Given the description of an element on the screen output the (x, y) to click on. 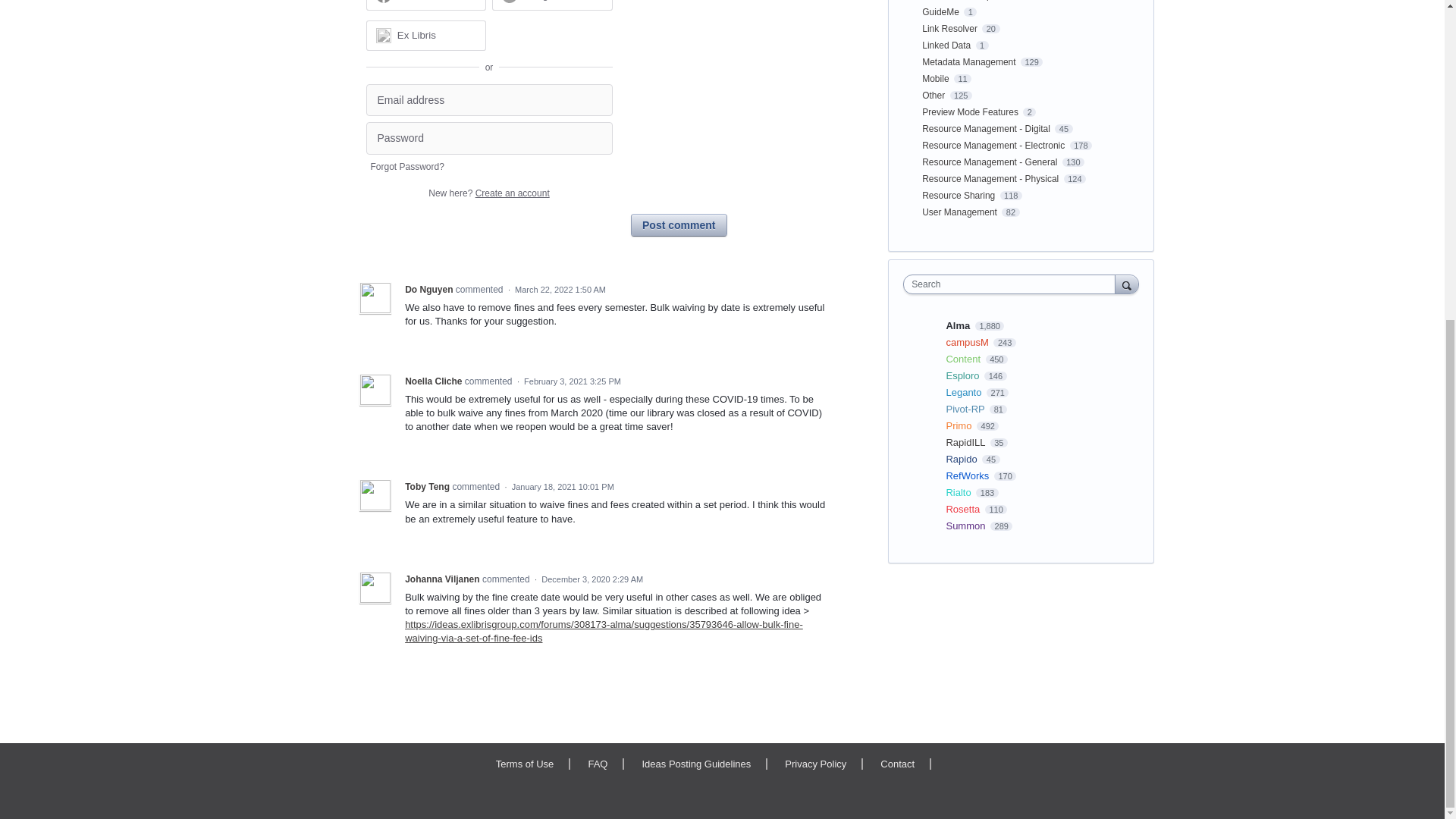
Google (552, 5)
Facebook (419, 0)
Google sign in (552, 5)
Facebook (425, 5)
Facebook sign in (425, 5)
Ex Libris (425, 34)
Forgot Password? (406, 166)
